Given the description of an element on the screen output the (x, y) to click on. 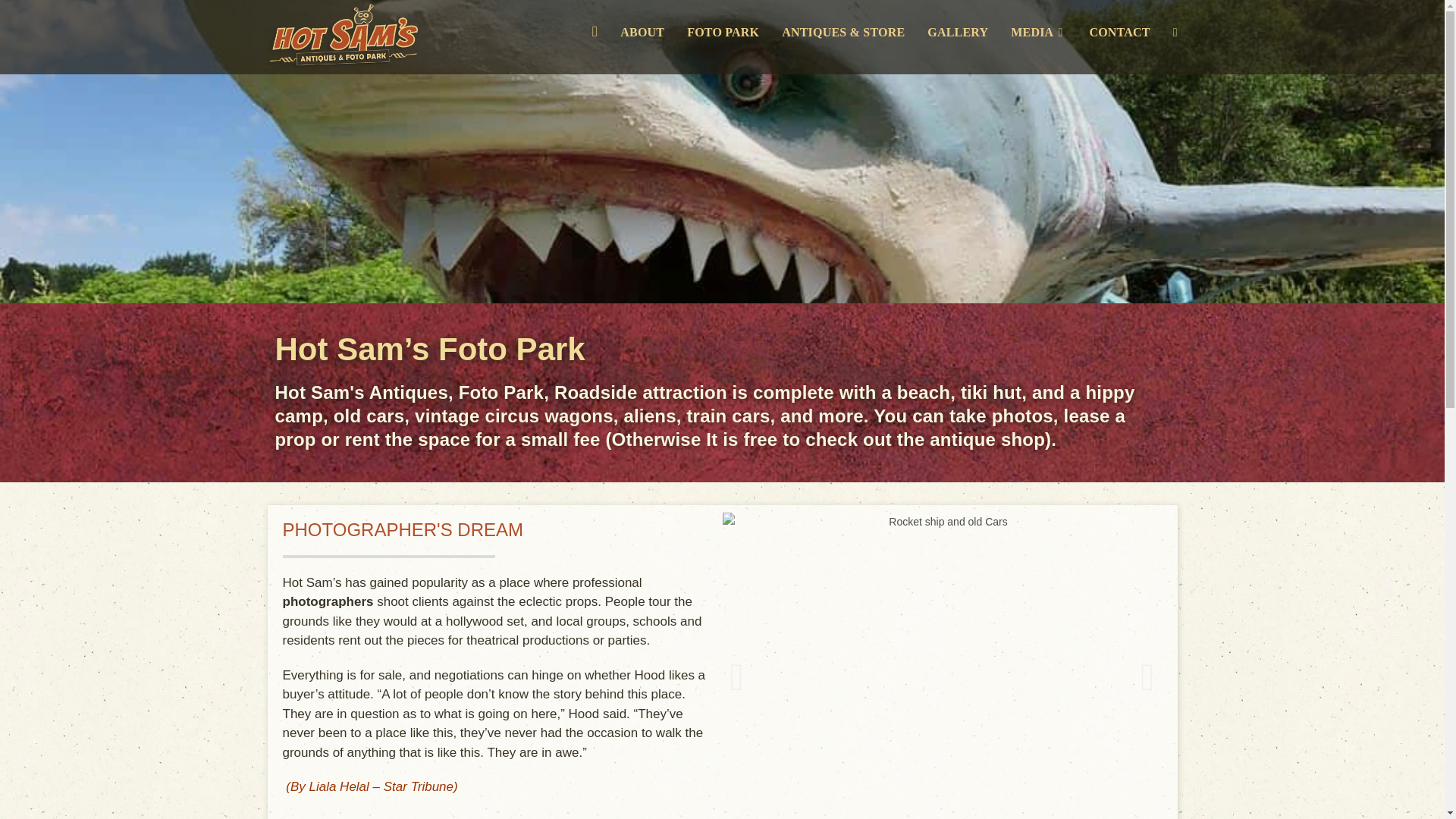
MEDIA (1037, 32)
CONTACT (1118, 32)
FOTO PARK (722, 32)
GALLERY (956, 32)
ABOUT (641, 32)
